Given the description of an element on the screen output the (x, y) to click on. 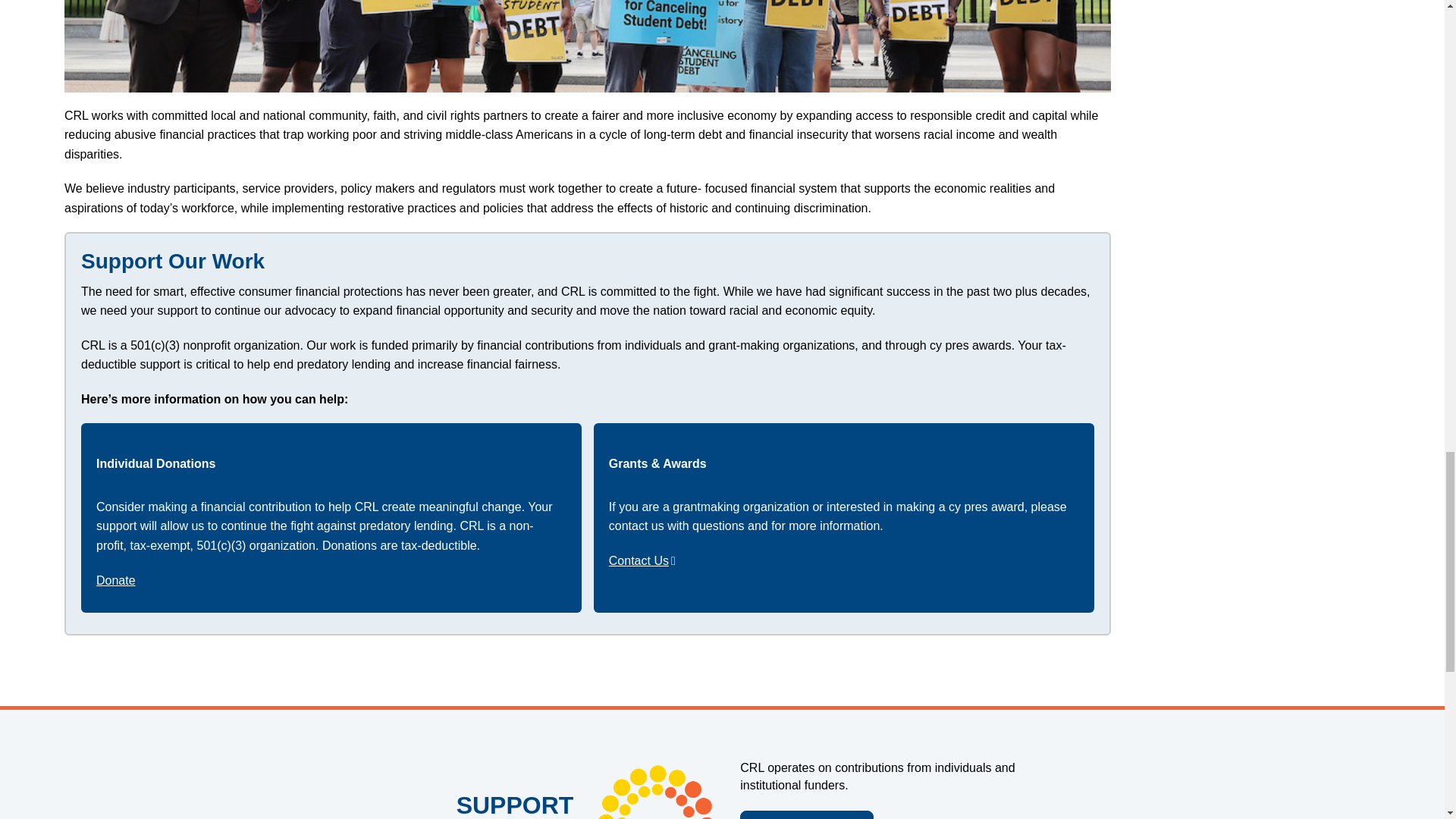
Donate (806, 814)
Donate (115, 580)
